Given the description of an element on the screen output the (x, y) to click on. 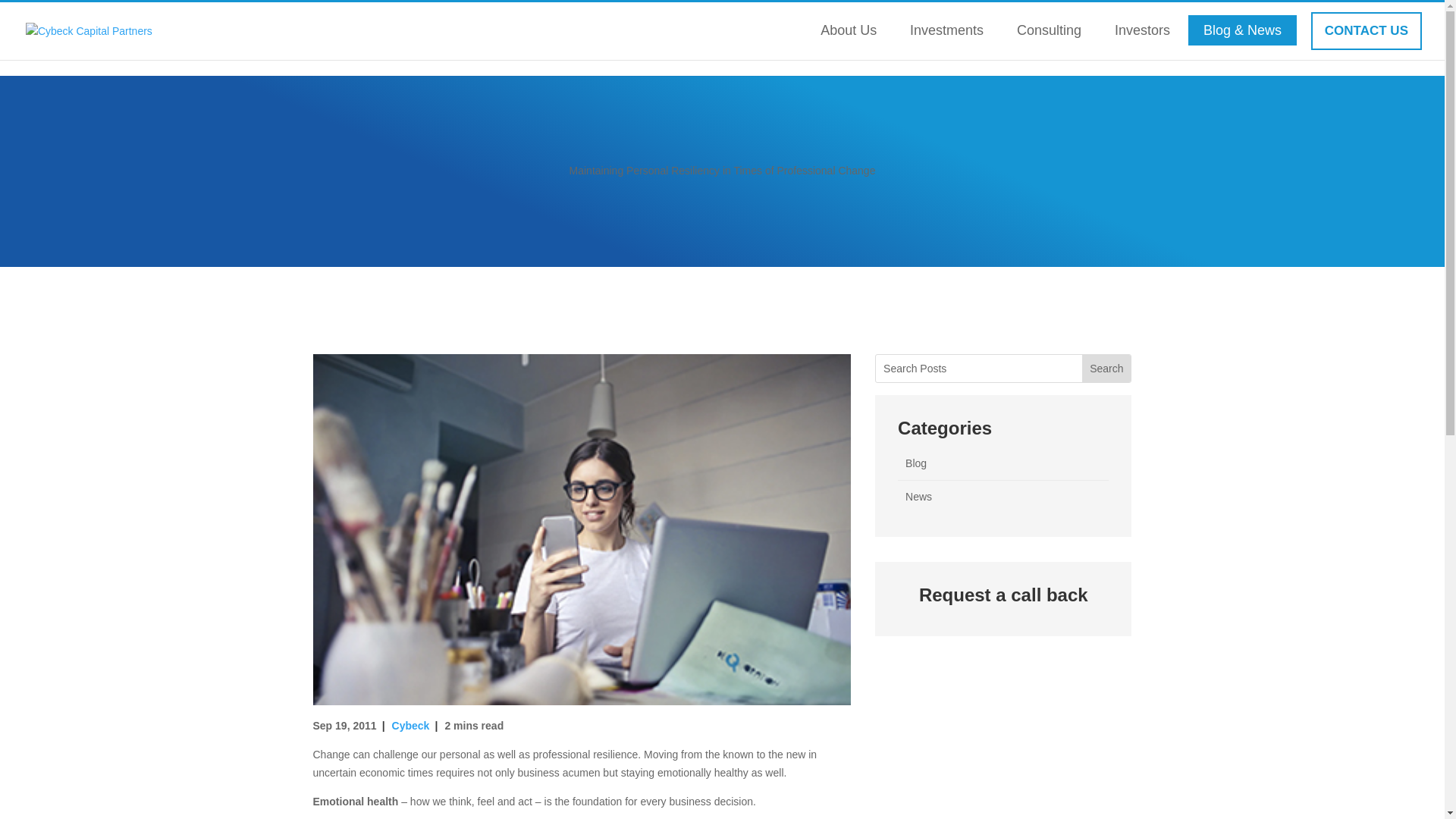
Search (1106, 368)
Consulting (1048, 30)
Cybeck (410, 725)
Investors (1142, 30)
CONTACT US (1366, 30)
Investments (946, 30)
News (918, 496)
Cybeck (410, 725)
Search (1106, 368)
Blog (915, 463)
